Given the description of an element on the screen output the (x, y) to click on. 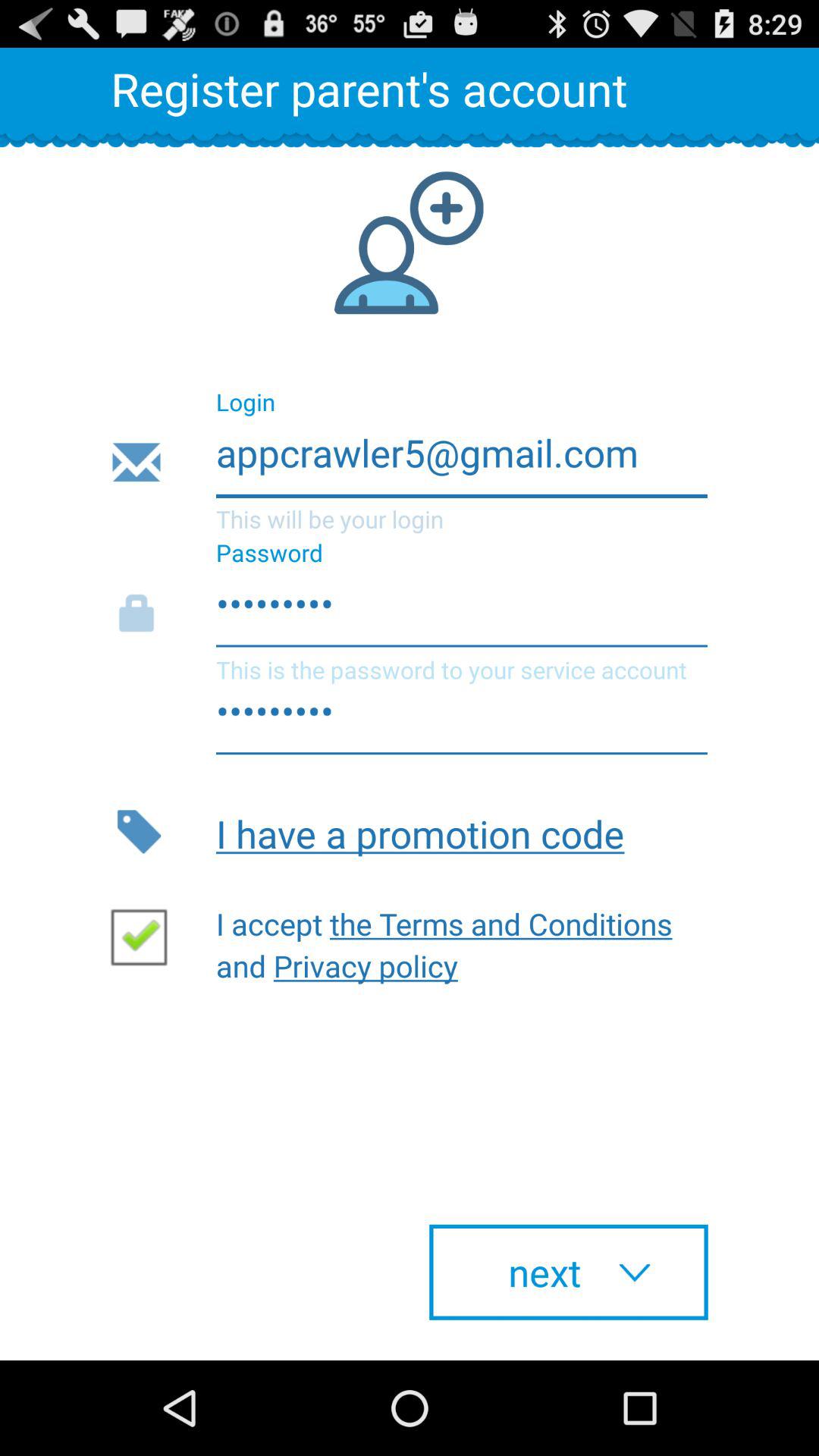
turn off icon at the bottom right corner (568, 1272)
